Given the description of an element on the screen output the (x, y) to click on. 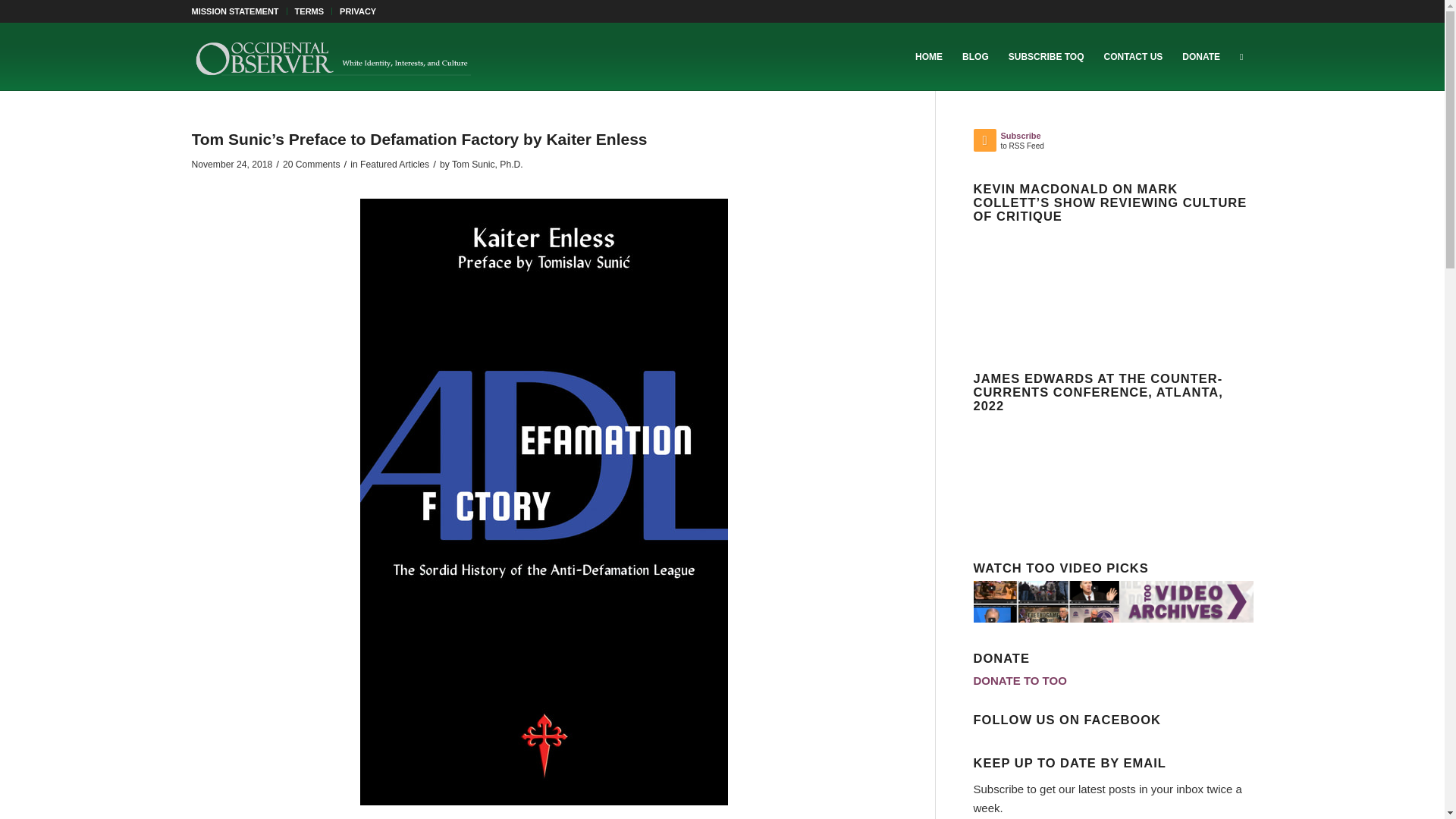
PRIVACY (357, 11)
Featured Articles (394, 163)
Tom Sunic, Ph.D. (486, 163)
SUBSCRIBE TOQ (1046, 56)
CONTACT US (1133, 56)
TERMS (309, 11)
MISSION STATEMENT (234, 11)
Posts by Tom Sunic, Ph.D. (486, 163)
DONATE TO TOO (1020, 680)
